Given the description of an element on the screen output the (x, y) to click on. 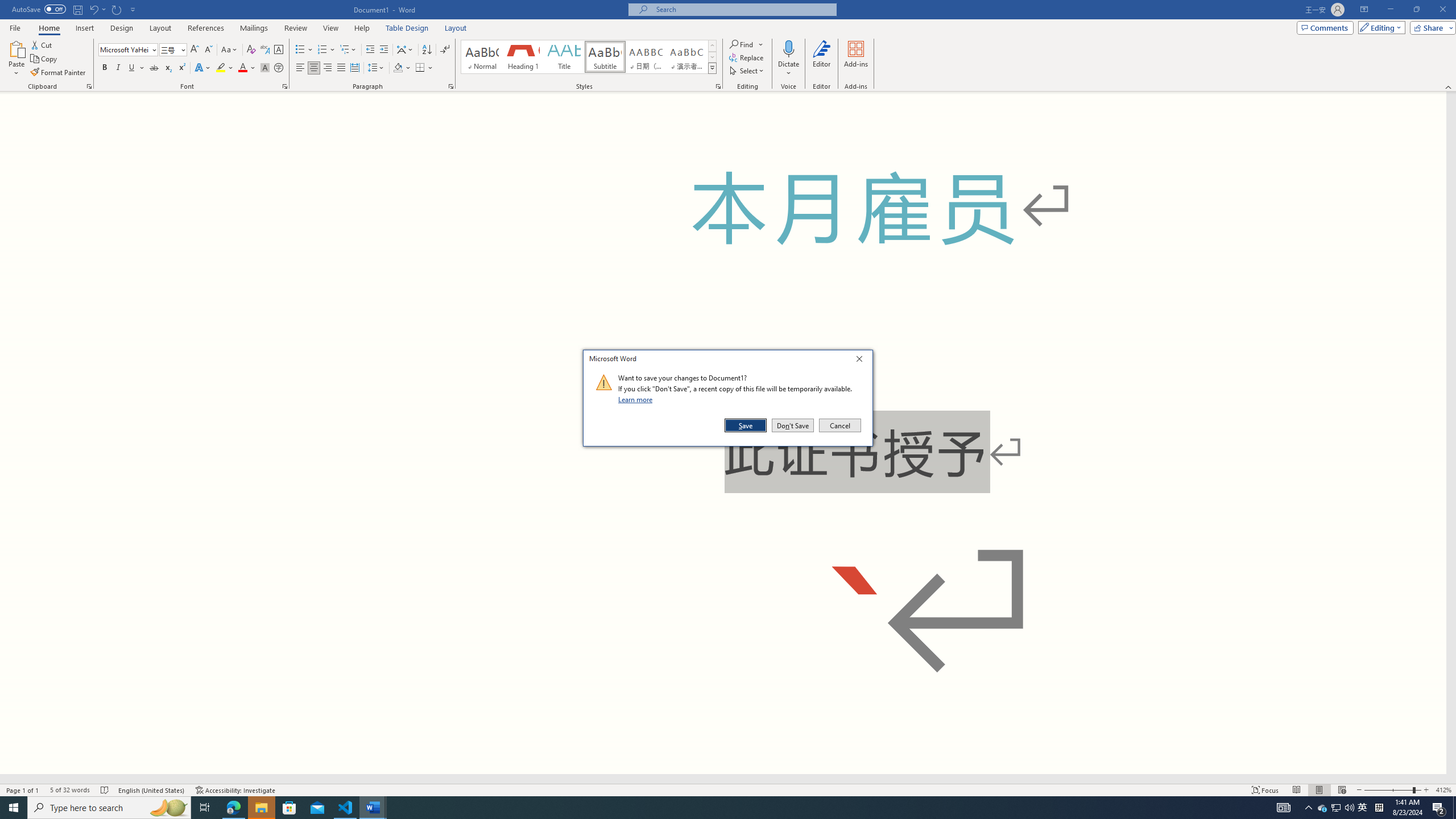
Format Painter (58, 72)
Cancel (839, 425)
Select (747, 69)
Notification Chevron (1322, 807)
